Given the description of an element on the screen output the (x, y) to click on. 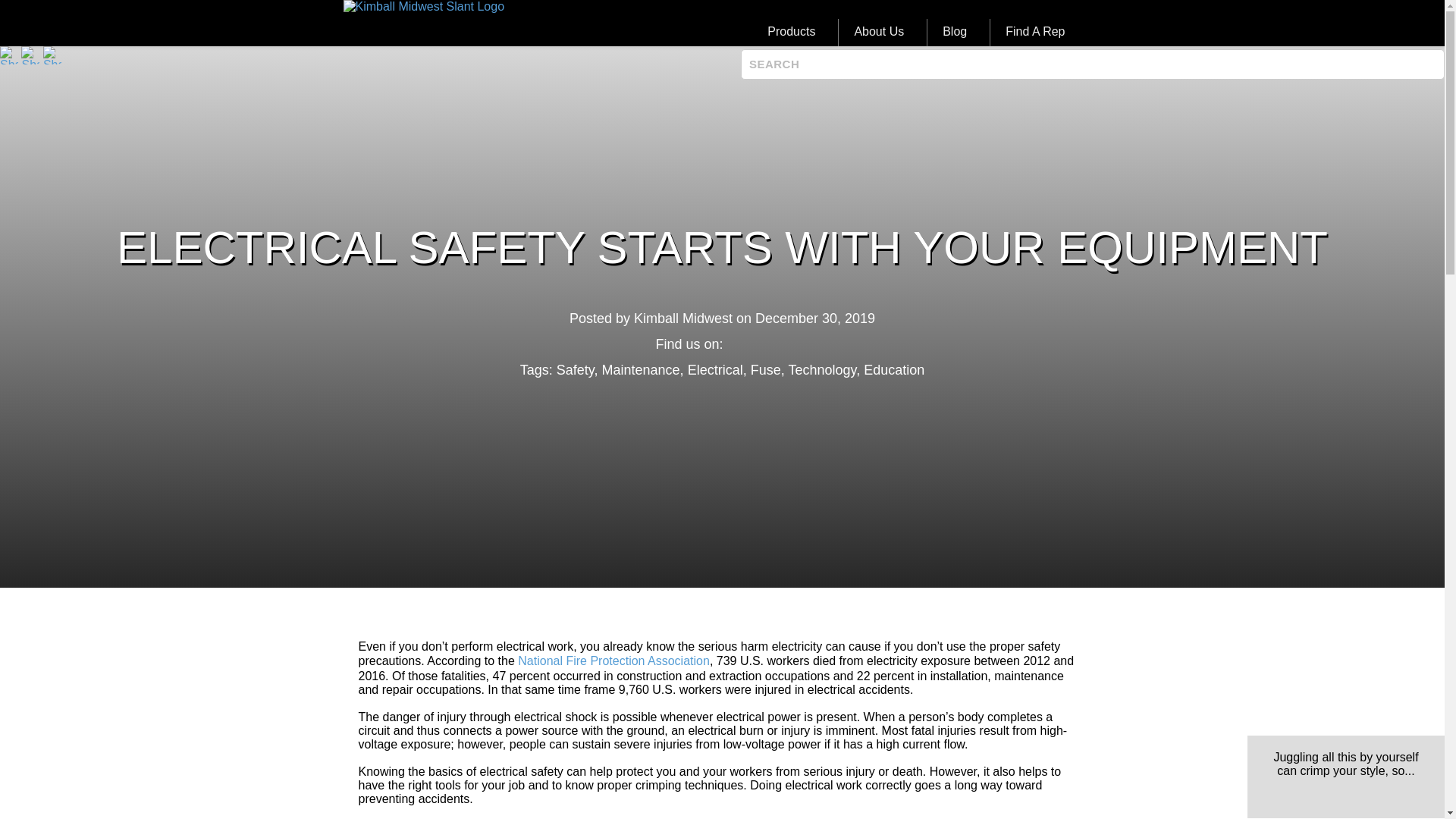
National Fire Protection Association (614, 660)
Find A Rep (1034, 31)
Kimball Midwest (682, 318)
Safety (575, 369)
Education (893, 369)
LinkedIn (758, 343)
Technology (821, 369)
Electrical (714, 369)
Twitter (780, 343)
Maintenance (640, 369)
Facebook (735, 343)
Blog (954, 31)
Kimball Midwest Slant Logo (422, 6)
Fuse (765, 369)
About Us (879, 31)
